Given the description of an element on the screen output the (x, y) to click on. 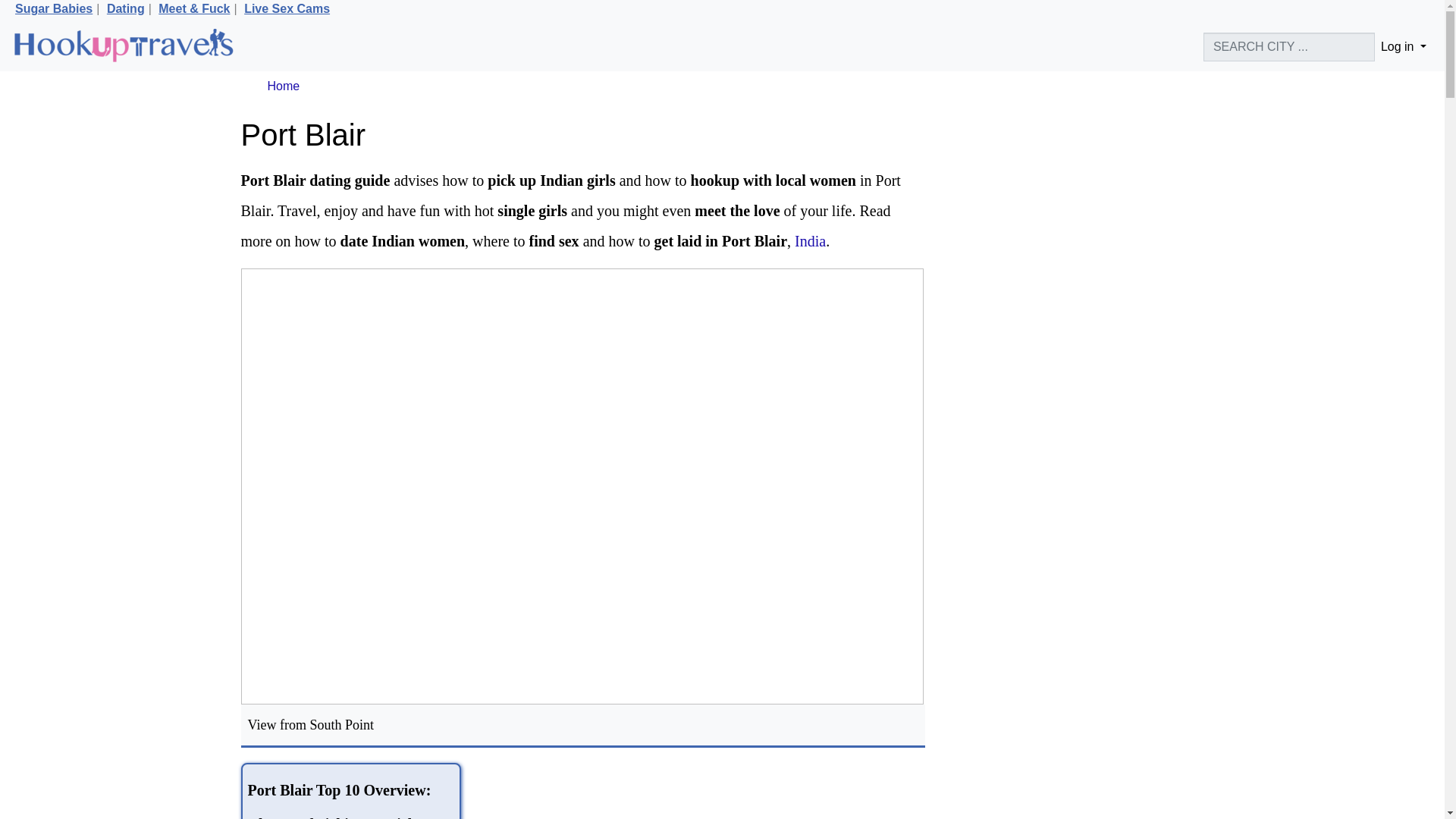
India (809, 240)
Home (282, 85)
Live Sex Cams (287, 8)
India (809, 240)
Dating (125, 8)
Sugar Babies (53, 8)
Hookup Travels (122, 46)
Log in (1403, 46)
